Given the description of an element on the screen output the (x, y) to click on. 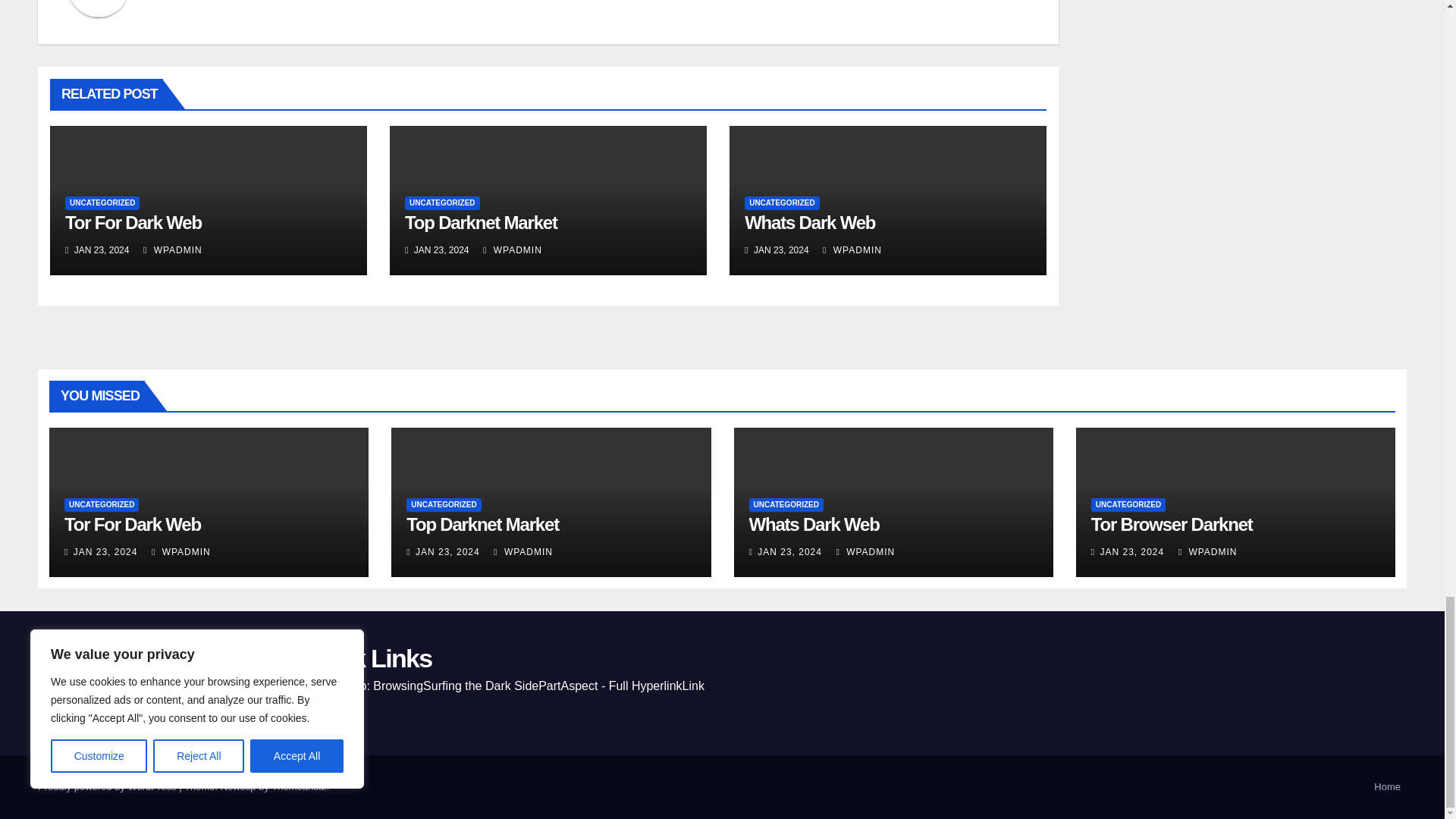
Home (1387, 786)
Permalink to: Tor Browser Darknet (1171, 524)
Permalink to: Tor For Dark Web (132, 524)
Permalink to: Top Darknet Market (482, 524)
Permalink to: Top Darknet Market (480, 222)
Permalink to: Whats Dark Web (809, 222)
Permalink to: Whats Dark Web (814, 524)
Permalink to: Tor For Dark Web (133, 222)
